Given the description of an element on the screen output the (x, y) to click on. 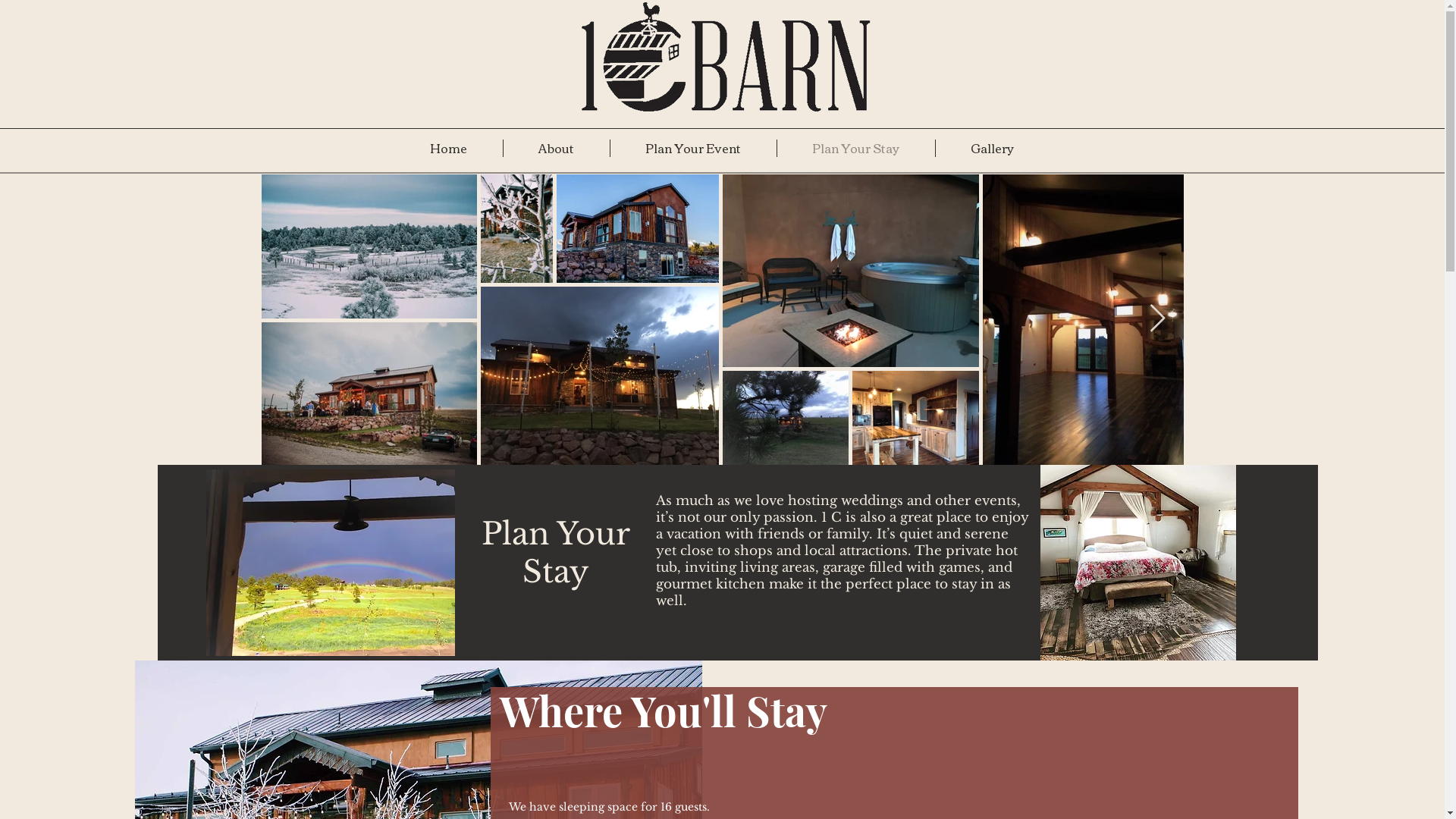
IMG_3655.JPG Element type: hover (330, 562)
About Element type: text (556, 147)
EEDFC723-1212-454F-9E81-48ABD8C7240B.jpg Element type: hover (1138, 562)
Plan Your Event Element type: text (692, 147)
Gallery Element type: text (992, 147)
Home Element type: text (448, 147)
Plan Your Stay Element type: text (855, 147)
